Given the description of an element on the screen output the (x, y) to click on. 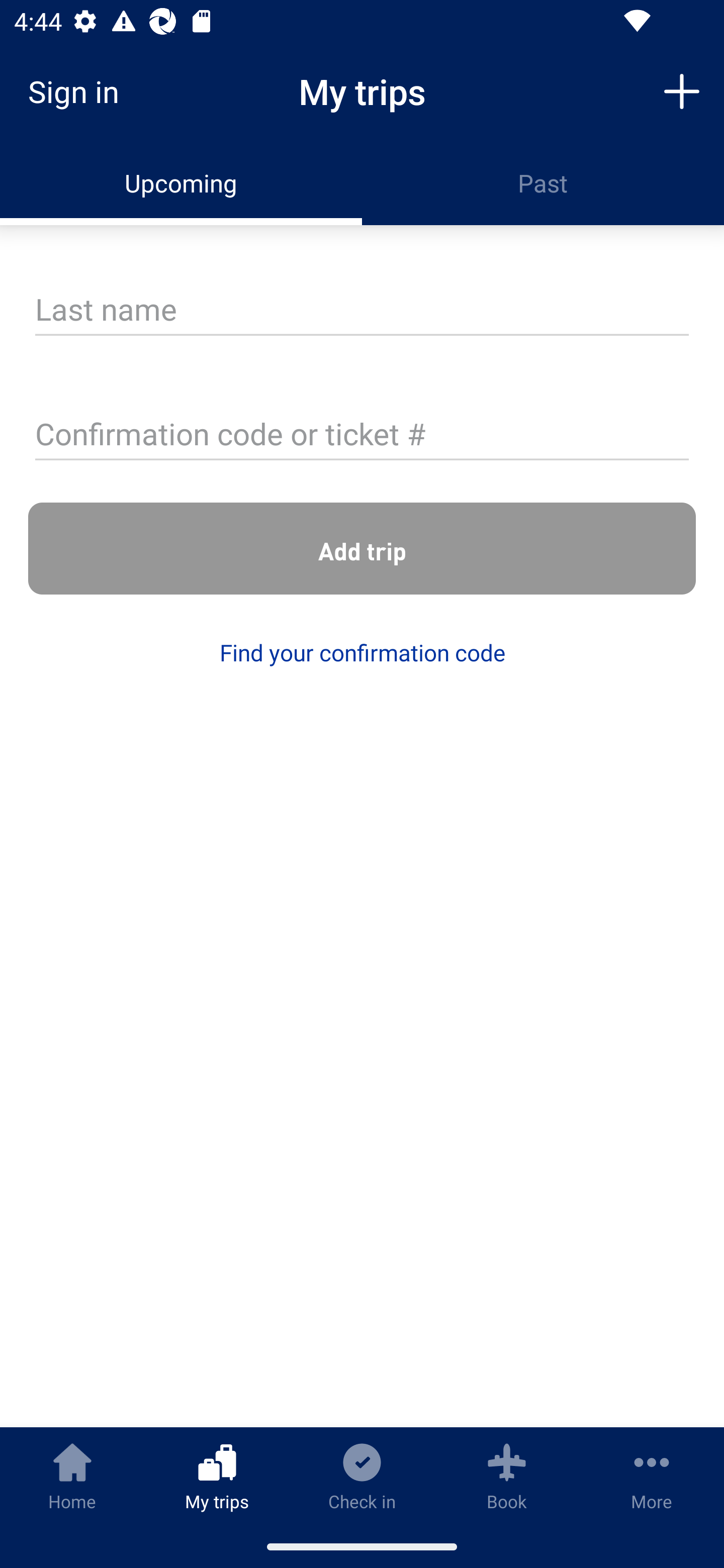
Sign in (80, 91)
Add trip (681, 90)
Past (543, 183)
Last name (361, 310)
Confirmation code or ticket # (361, 435)
Add trip (361, 548)
Home (72, 1475)
Check in (361, 1475)
Book (506, 1475)
More (651, 1475)
